Given the description of an element on the screen output the (x, y) to click on. 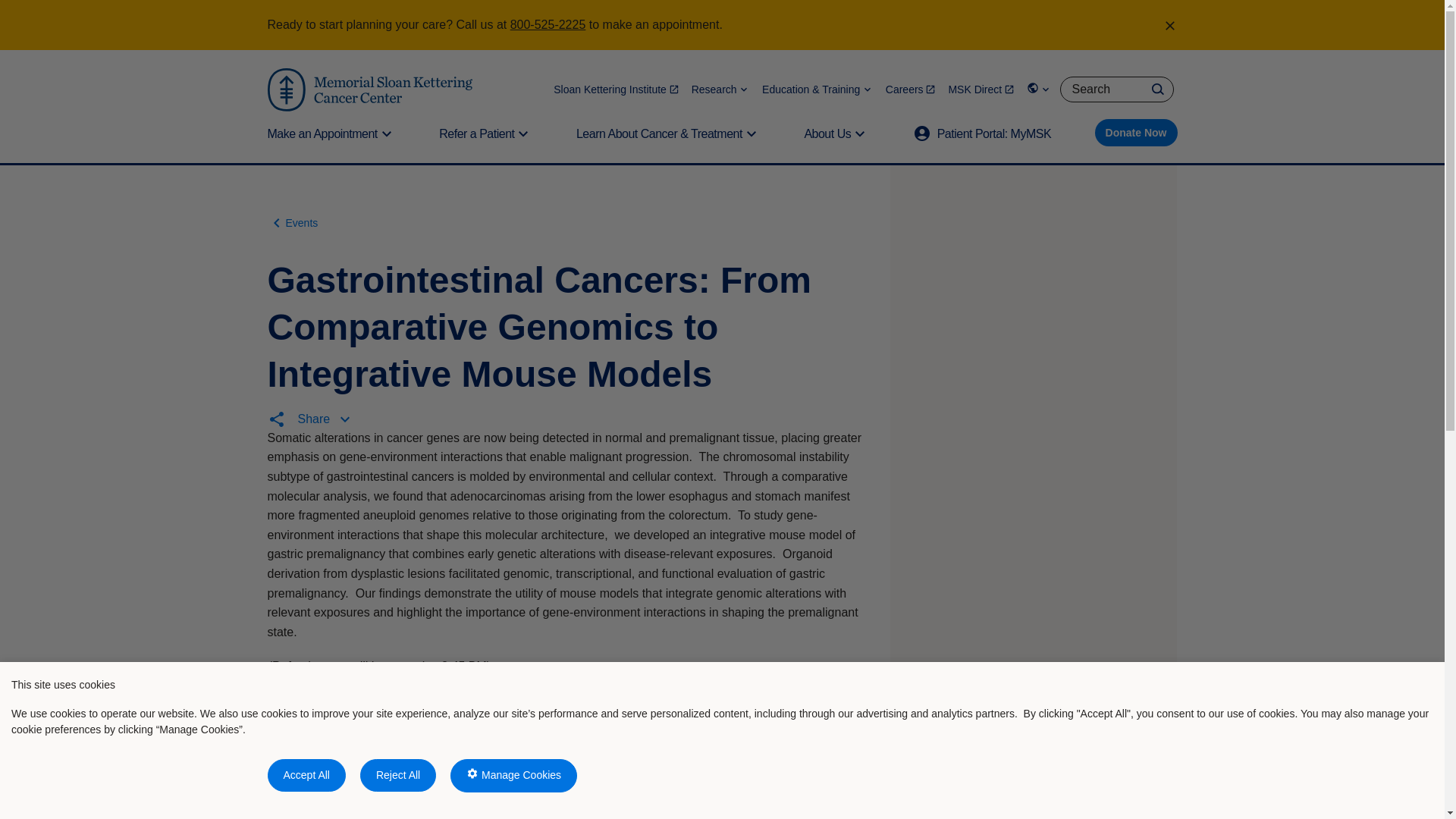
Sloan Kettering Institute (615, 89)
800-525-2225 (548, 24)
Reject All (397, 775)
Insert a query. Press enter to send (1115, 88)
Manage Cookies (512, 775)
Accept All (305, 775)
Donate Now (1135, 132)
Research (720, 89)
